Given the description of an element on the screen output the (x, y) to click on. 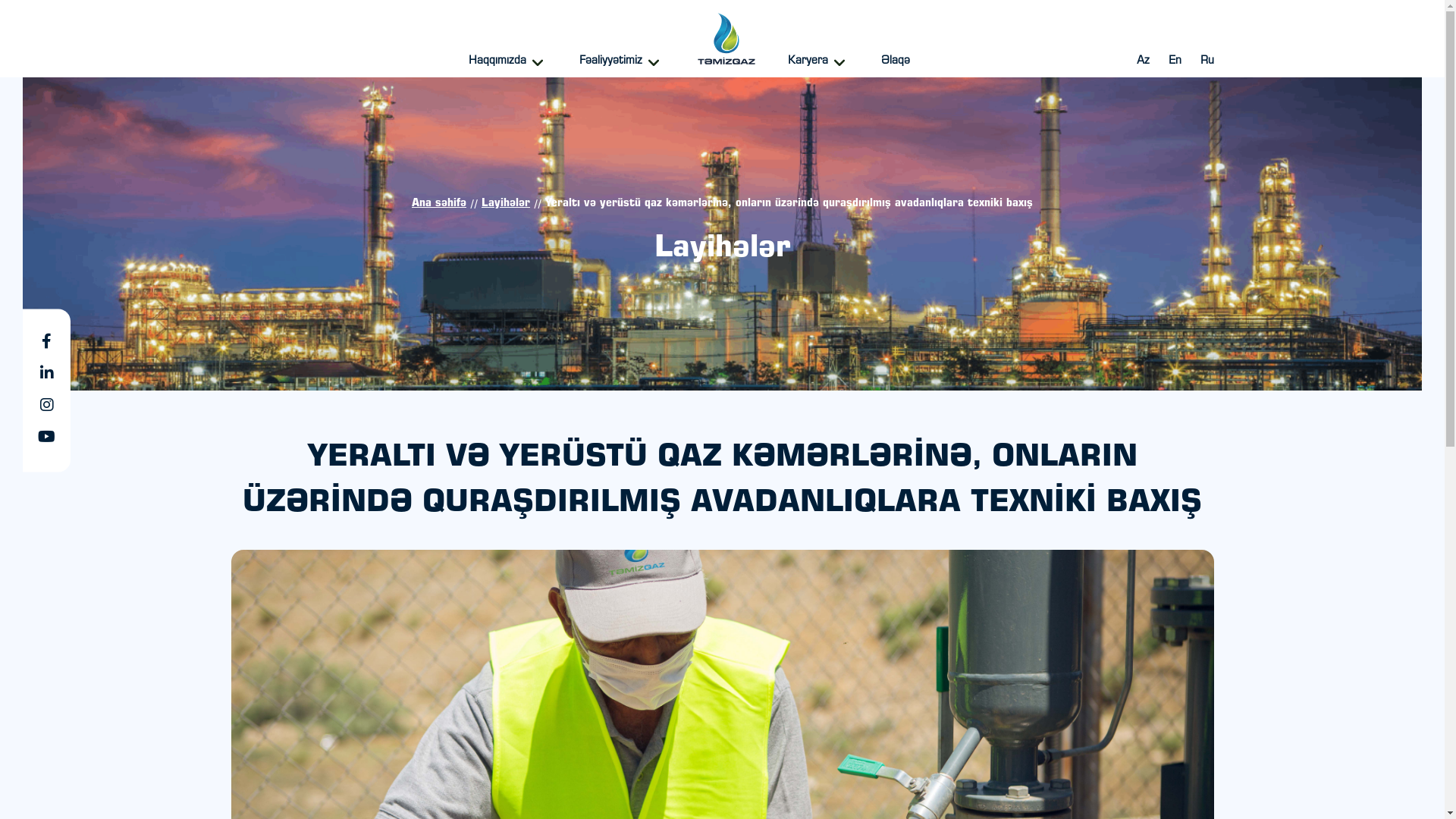
En Element type: text (1173, 61)
Karyera Element type: text (818, 61)
Az Element type: text (1141, 61)
Ru Element type: text (1206, 61)
